Given the description of an element on the screen output the (x, y) to click on. 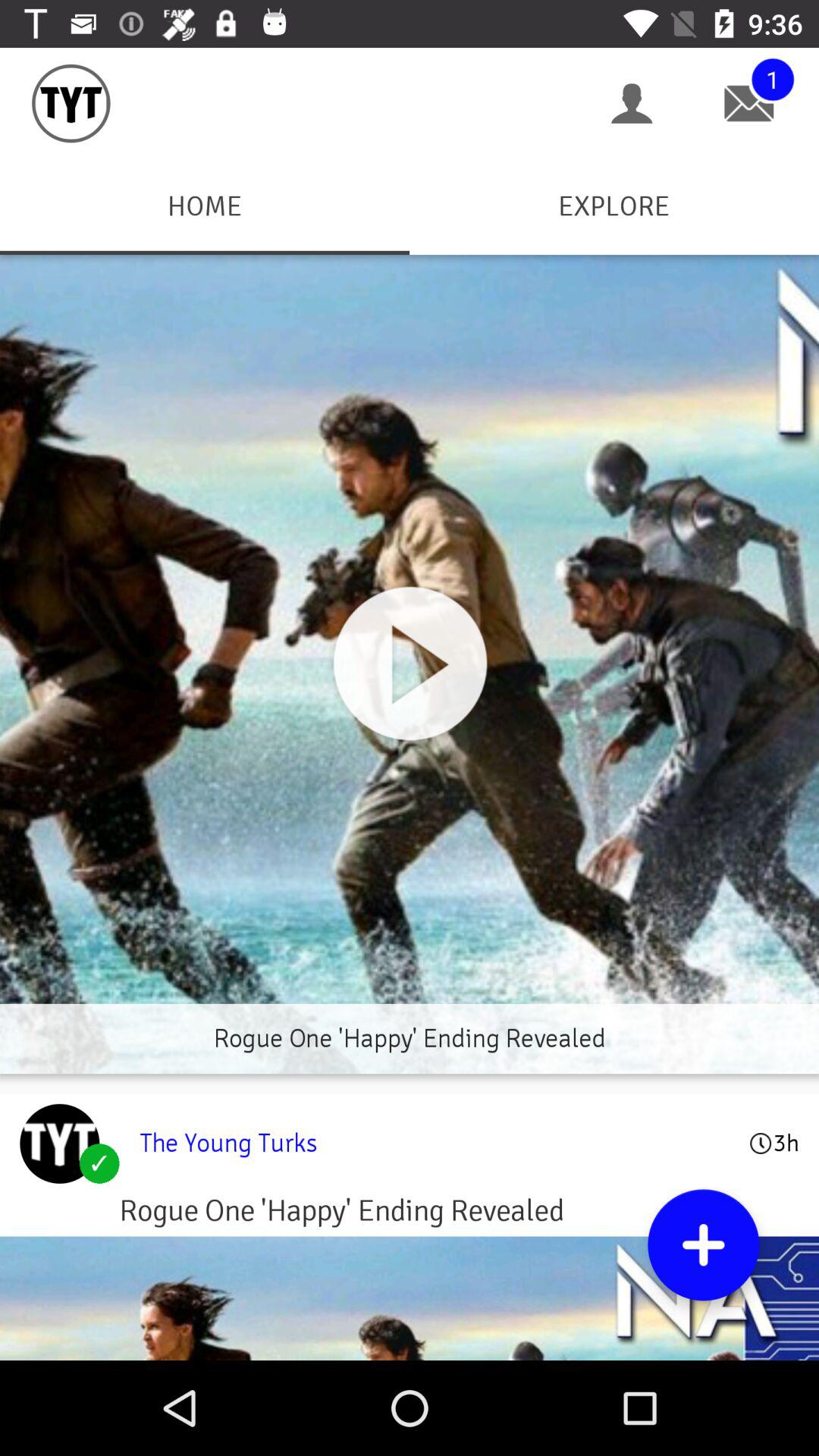
click the item to the left of 3h icon (434, 1143)
